Given the description of an element on the screen output the (x, y) to click on. 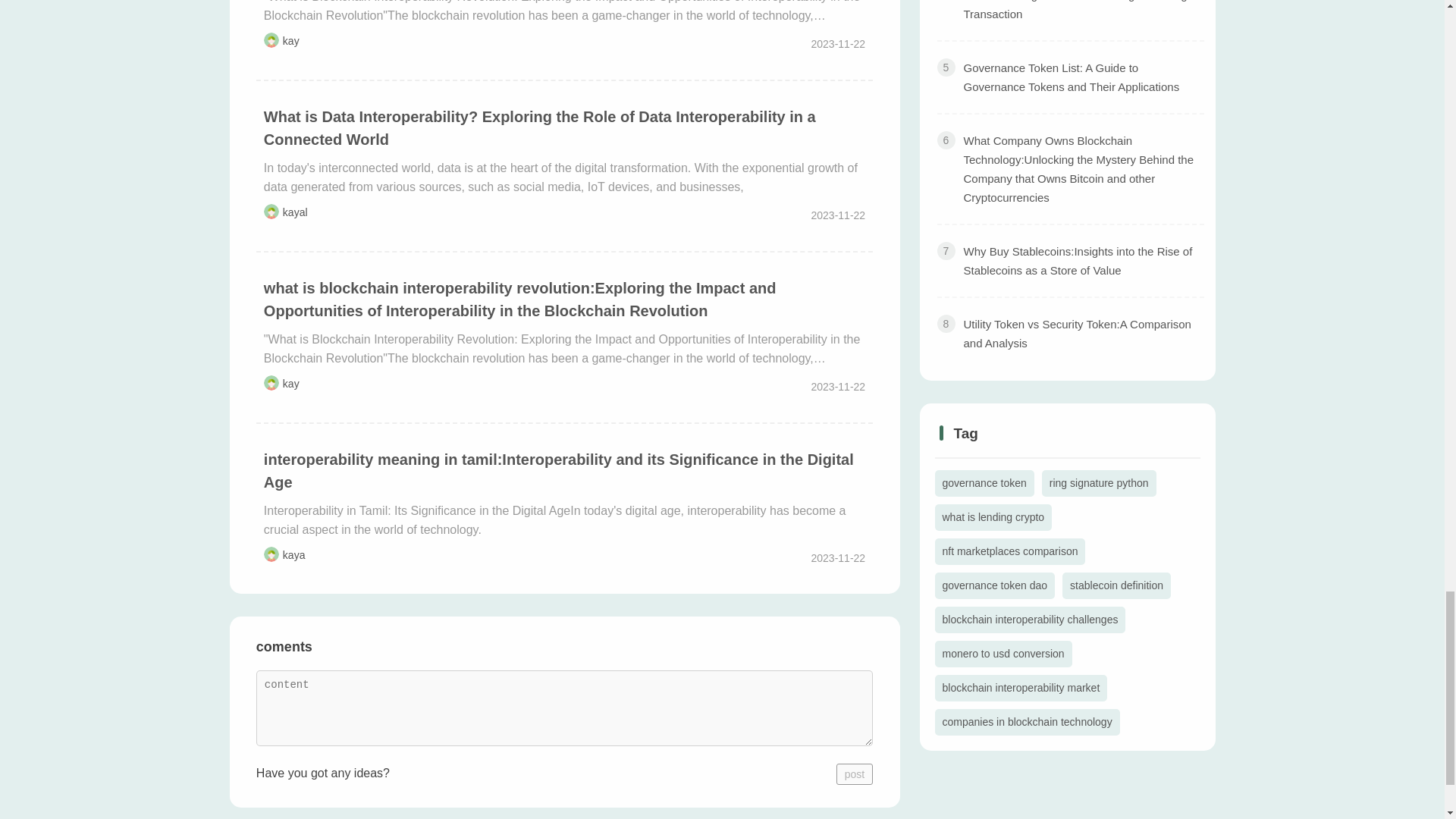
kaya (293, 554)
post (853, 773)
kayal (294, 212)
kay (290, 40)
kay (290, 383)
